Given the description of an element on the screen output the (x, y) to click on. 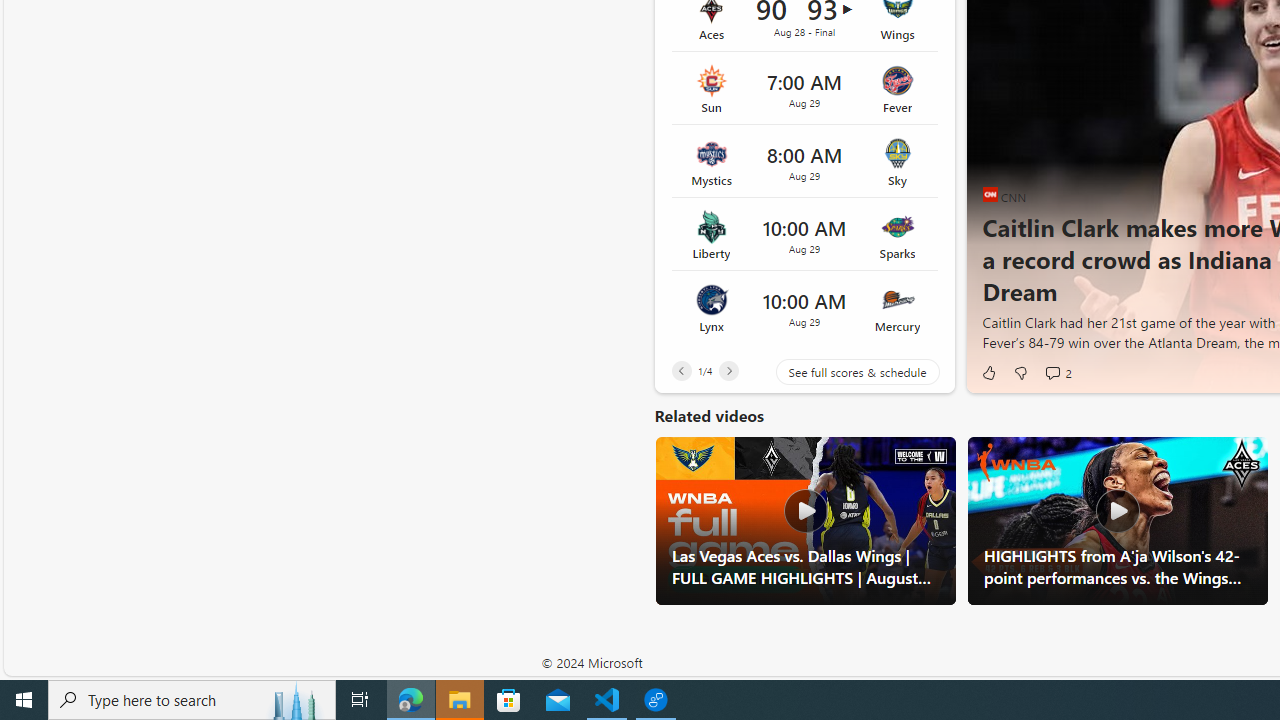
Class: around-the-league-card (804, 307)
Lynx vs Mercury Time 10:00 AM Date Aug 29 (804, 307)
See full scores & schedule (842, 372)
CNN (989, 194)
Mystics vs Sky Time 8:00 AM Date Aug 29 (804, 161)
Sun vs Fever Time 7:00 AM Date Aug 29 (804, 88)
View comments 2 Comment (1057, 372)
Liberty vs Sparks Time 10:00 AM Date Aug 29 (804, 235)
Next (728, 370)
Dislike (1019, 372)
Like (987, 372)
View comments 2 Comment (1052, 372)
